Given the description of an element on the screen output the (x, y) to click on. 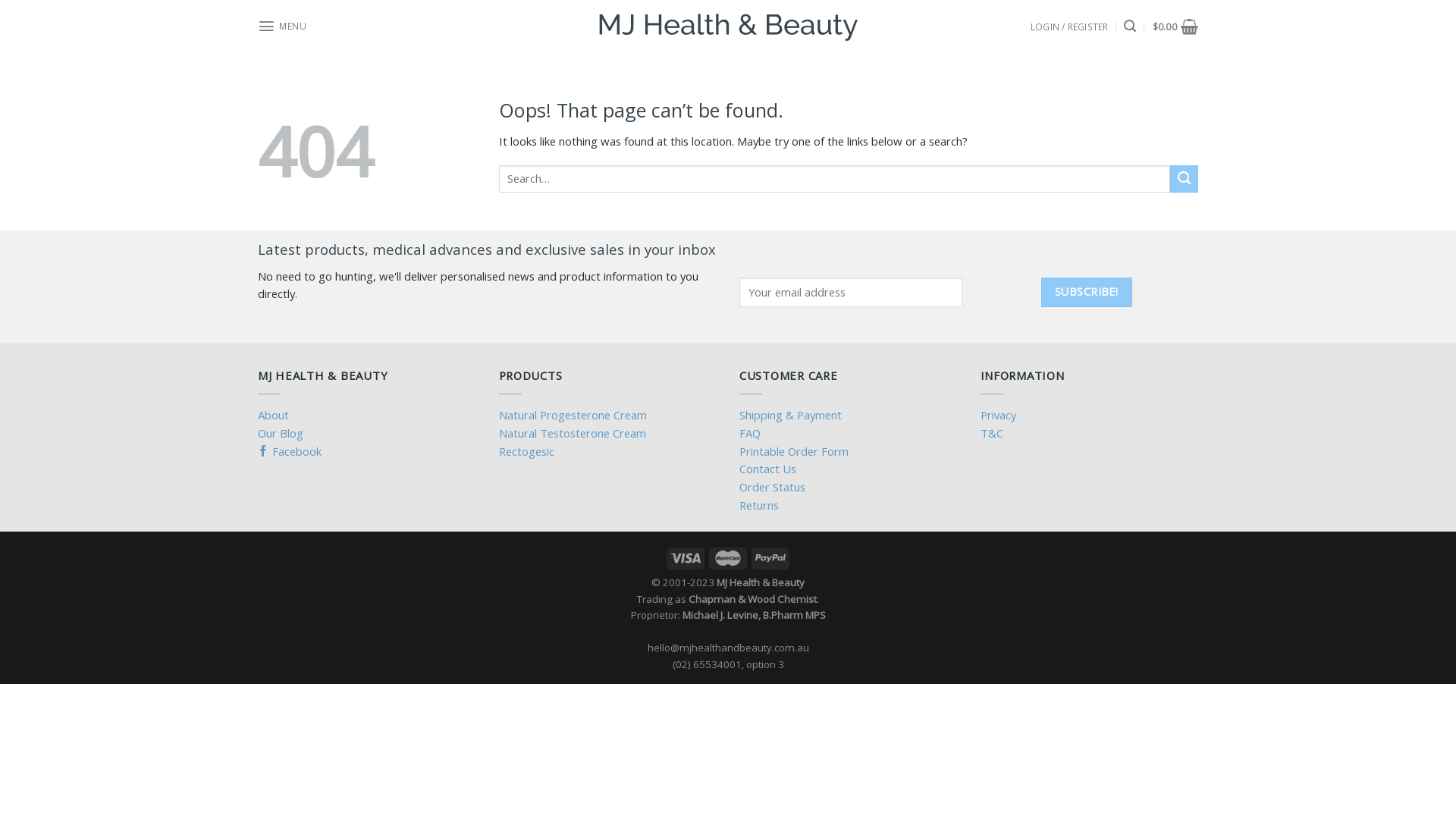
MJ Health & Beauty Element type: hover (727, 25)
Natural Testosterone Cream Element type: text (572, 432)
Returns Element type: text (758, 504)
Shipping & Payment Element type: text (790, 414)
T&C Element type: text (990, 432)
Order Status Element type: text (772, 486)
Natural Progesterone Cream Element type: text (572, 414)
$0.00 Element type: text (1175, 25)
Rectogesic Element type: text (526, 450)
Facebook Element type: text (289, 450)
Contact Us Element type: text (767, 468)
hello@mjhealthandbeauty.com.au Element type: text (728, 647)
Our Blog Element type: text (280, 432)
Privacy Element type: text (997, 414)
LOGIN / REGISTER Element type: text (1069, 25)
(02) 65534001 Element type: text (705, 664)
About Element type: text (272, 414)
Subscribe! Element type: text (1086, 292)
FAQ Element type: text (749, 432)
Printable Order Form Element type: text (793, 450)
MENU Element type: text (282, 25)
